Given the description of an element on the screen output the (x, y) to click on. 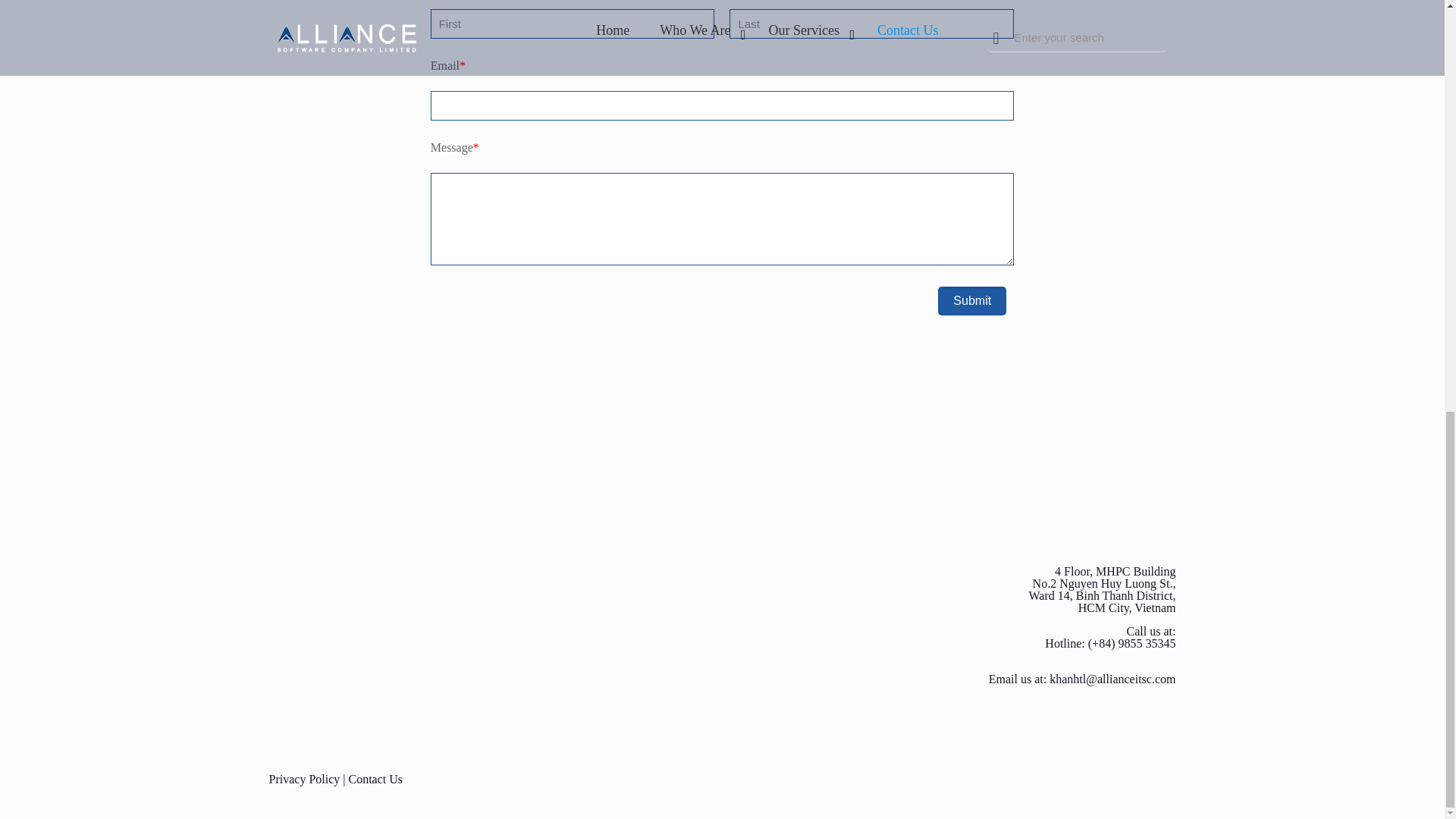
Facebook (1155, 779)
Submit (971, 300)
